Given the description of an element on the screen output the (x, y) to click on. 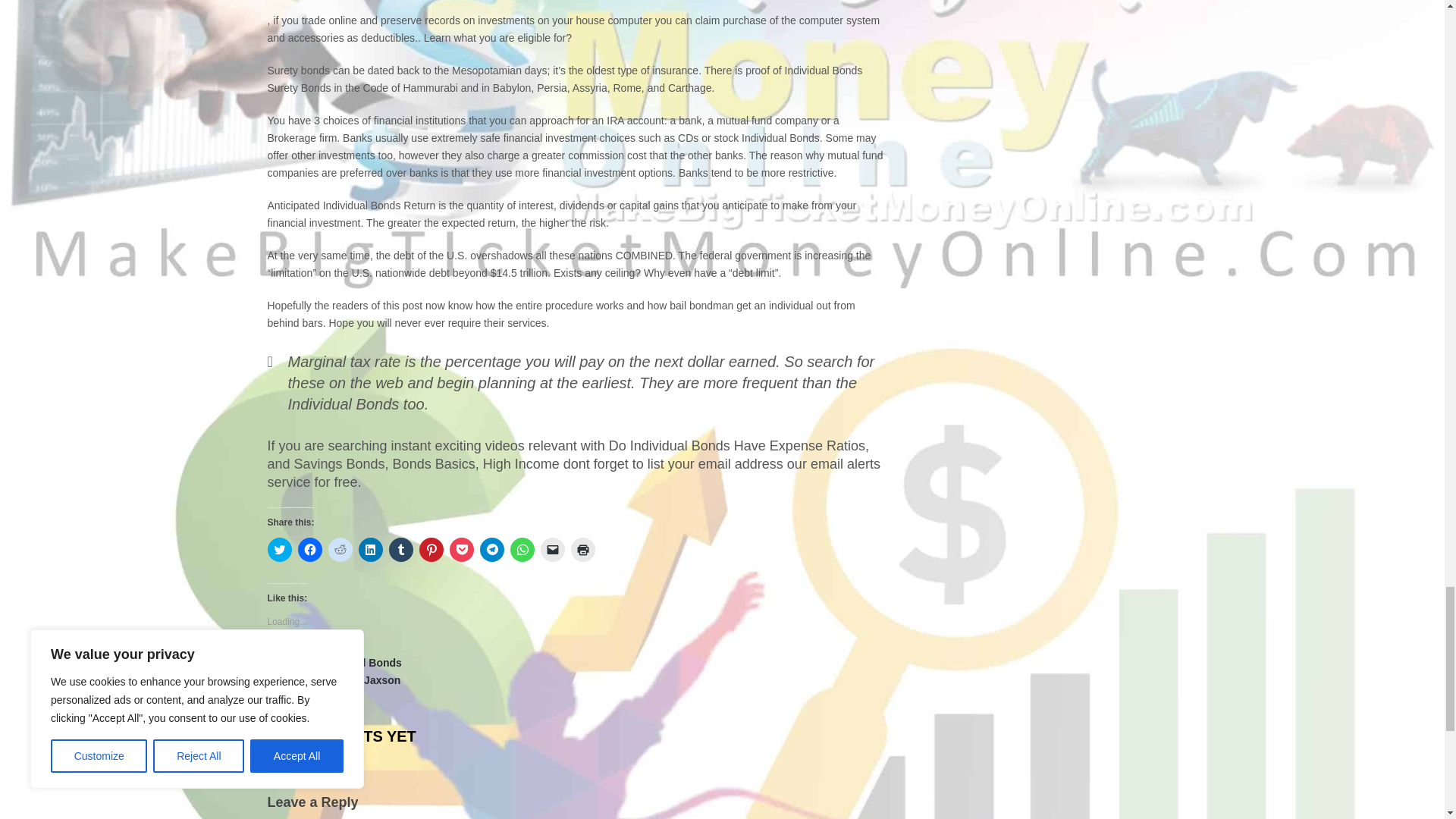
Click to share on Telegram (491, 549)
Click to share on WhatsApp (521, 549)
Click to share on LinkedIn (369, 549)
Click to print (582, 549)
Click to share on Reddit (339, 549)
Click to share on Pinterest (430, 549)
Click to share on Twitter (278, 549)
Click to share on Tumblr (400, 549)
Click to share on Pocket (460, 549)
Click to email a link to a friend (552, 549)
Click to share on Facebook (309, 549)
